Given the description of an element on the screen output the (x, y) to click on. 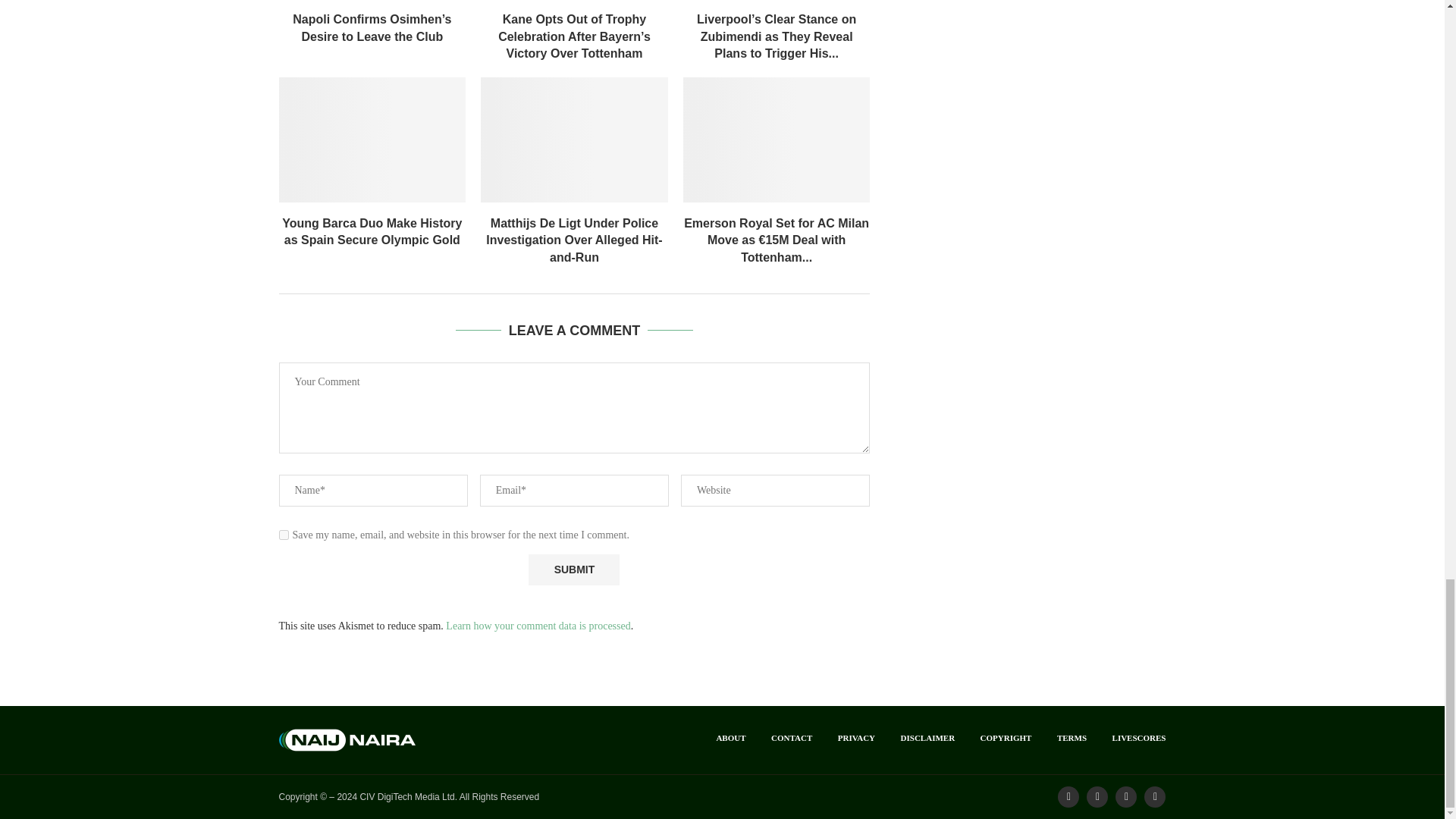
yes (283, 534)
Submit (574, 569)
Young Barca Duo Make History as Spain Secure Olympic Gold (372, 138)
